Given the description of an element on the screen output the (x, y) to click on. 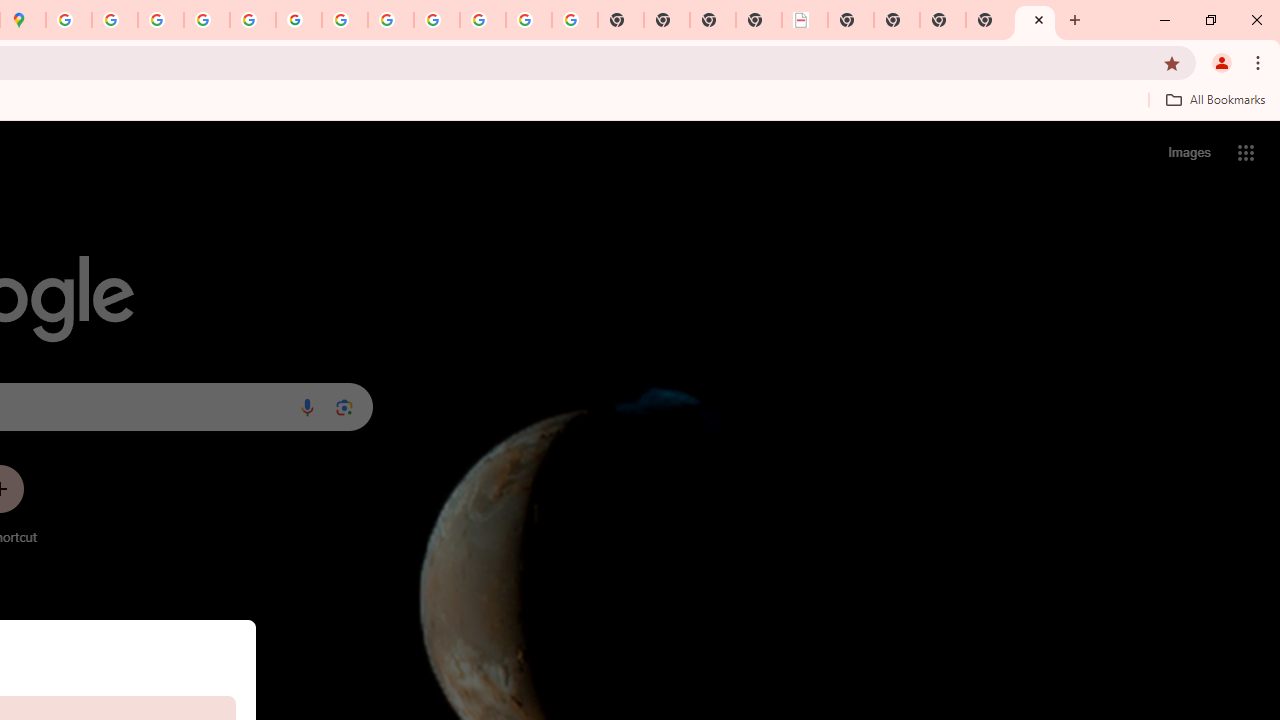
New Tab (989, 20)
